Given the description of an element on the screen output the (x, y) to click on. 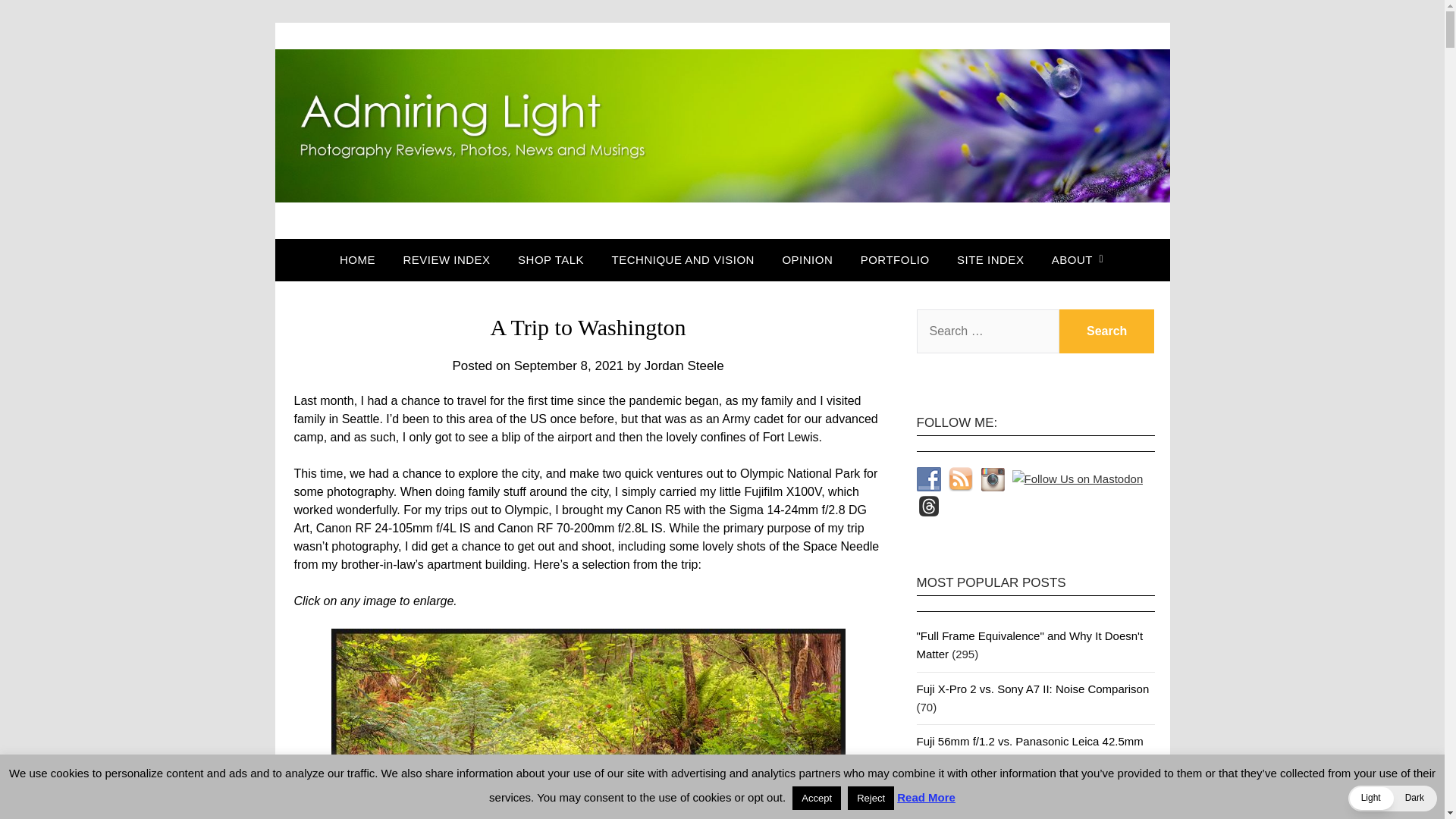
OPINION (807, 259)
Follow Us on Threads (927, 505)
Follow Us on RSS (959, 478)
Search (1106, 330)
Follow Us on Instagram (991, 478)
Follow Us on Mastodon (1076, 479)
PORTFOLIO (895, 259)
TECHNIQUE AND VISION (683, 259)
Jordan Steele (684, 365)
SITE INDEX (989, 259)
SHOP TALK (550, 259)
September 8, 2021 (568, 365)
HOME (363, 259)
Search (1106, 330)
Follow Us on Facebook (927, 478)
